Given the description of an element on the screen output the (x, y) to click on. 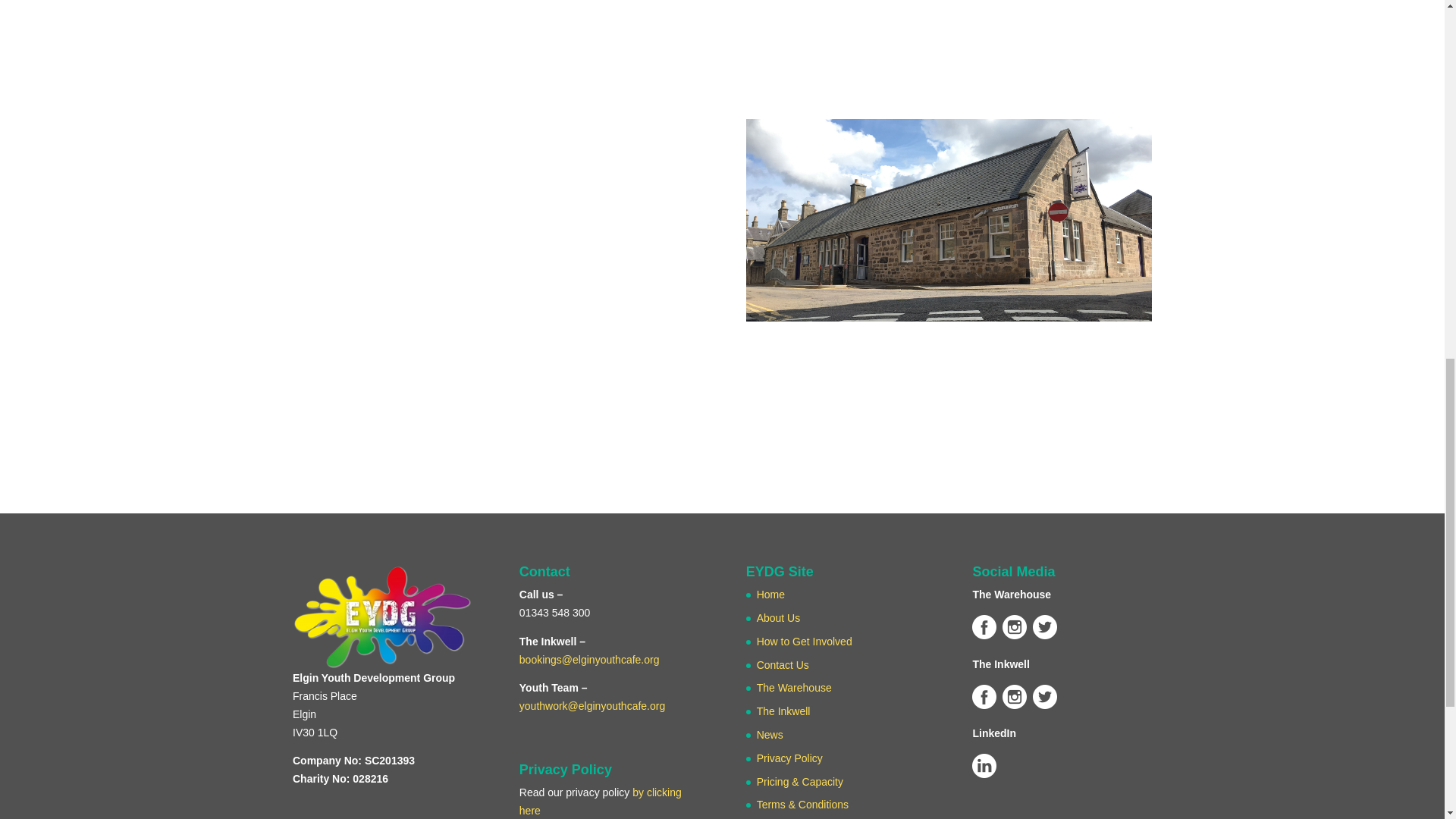
Home (770, 594)
About Us (778, 617)
How to Get Involved (804, 641)
Contact Us (783, 664)
by clicking here (600, 801)
